Given the description of an element on the screen output the (x, y) to click on. 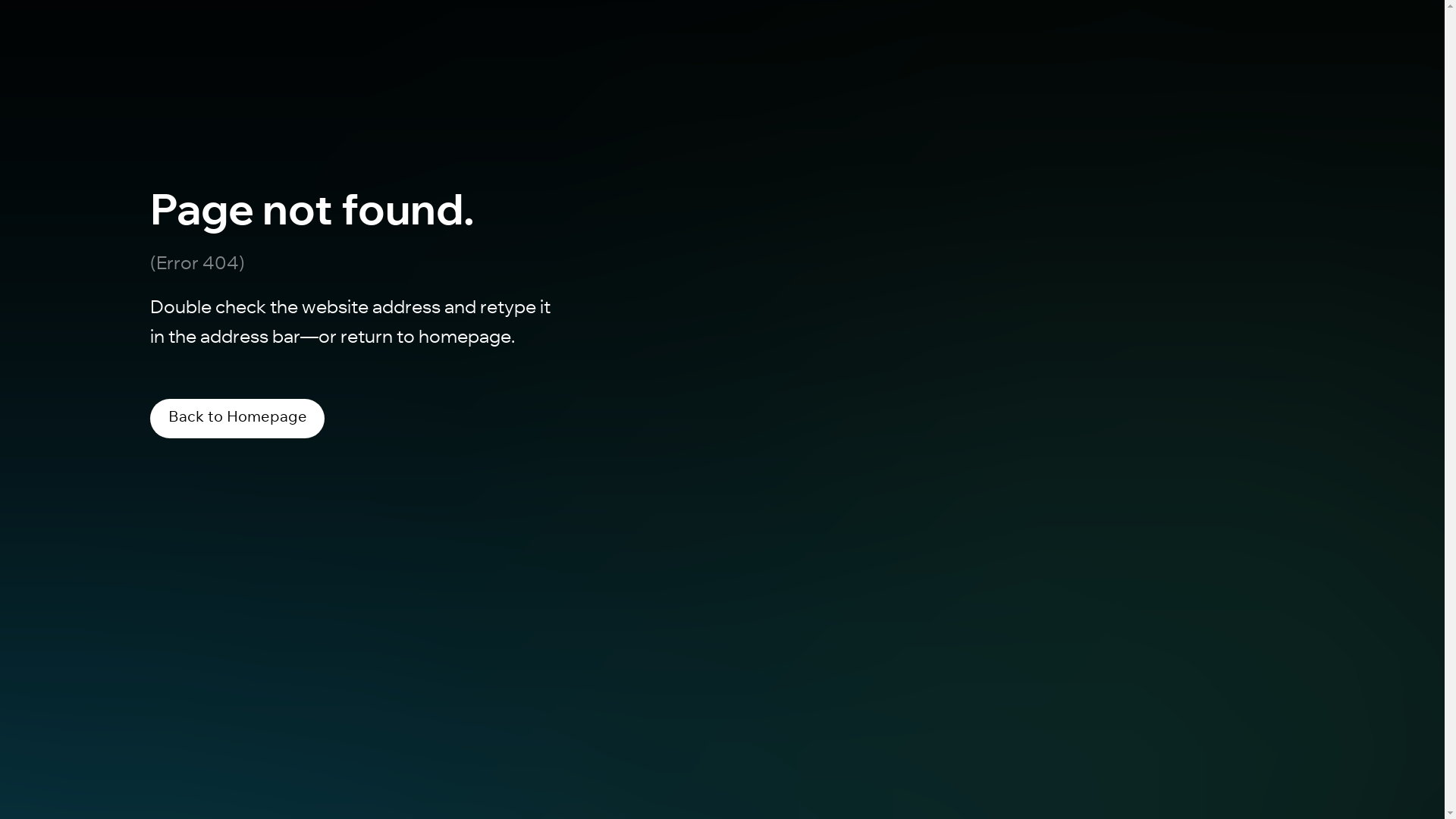
Back to Homepage Element type: text (237, 418)
